Given the description of an element on the screen output the (x, y) to click on. 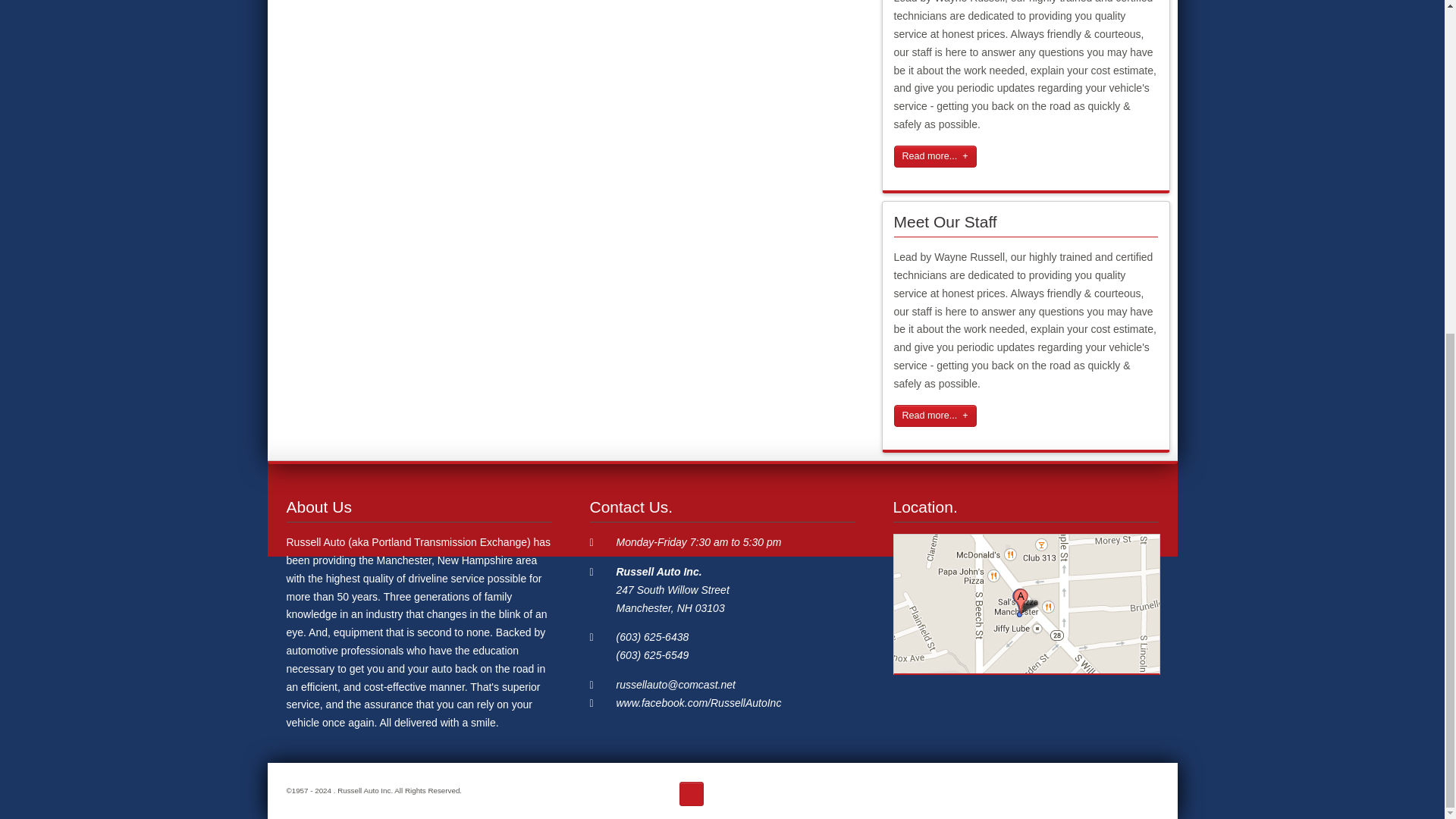
Read more... (934, 156)
Read more... (934, 415)
Russell Auto Inc. (658, 571)
